Given the description of an element on the screen output the (x, y) to click on. 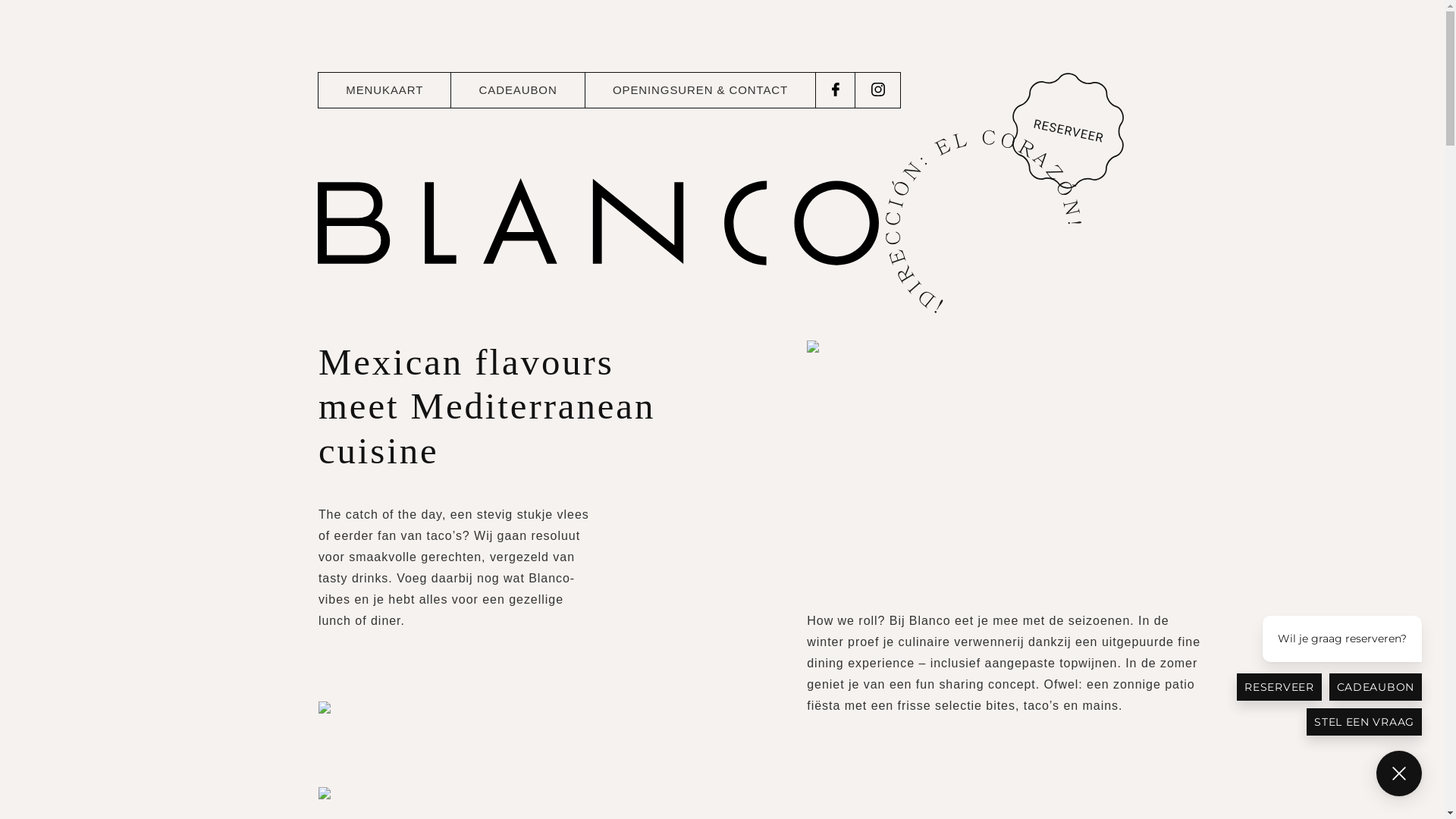
CADEAUBON Element type: text (517, 89)
MENUKAART Element type: text (384, 89)
OPENINGSUREN & CONTACT Element type: text (700, 89)
